Given the description of an element on the screen output the (x, y) to click on. 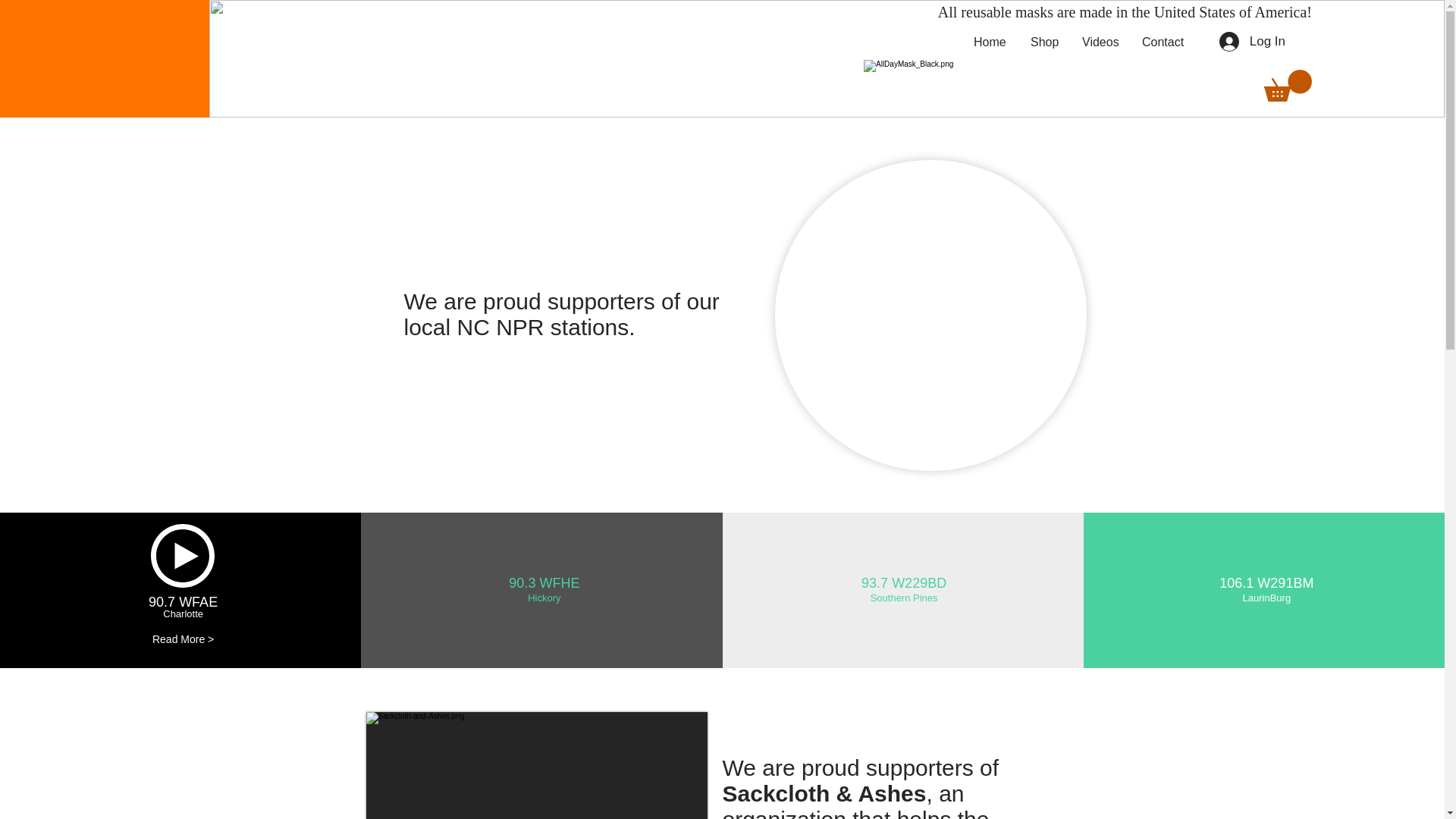
Home (990, 42)
Log In (1251, 41)
Contact (1163, 42)
Shop (1044, 42)
Videos (1100, 42)
